Given the description of an element on the screen output the (x, y) to click on. 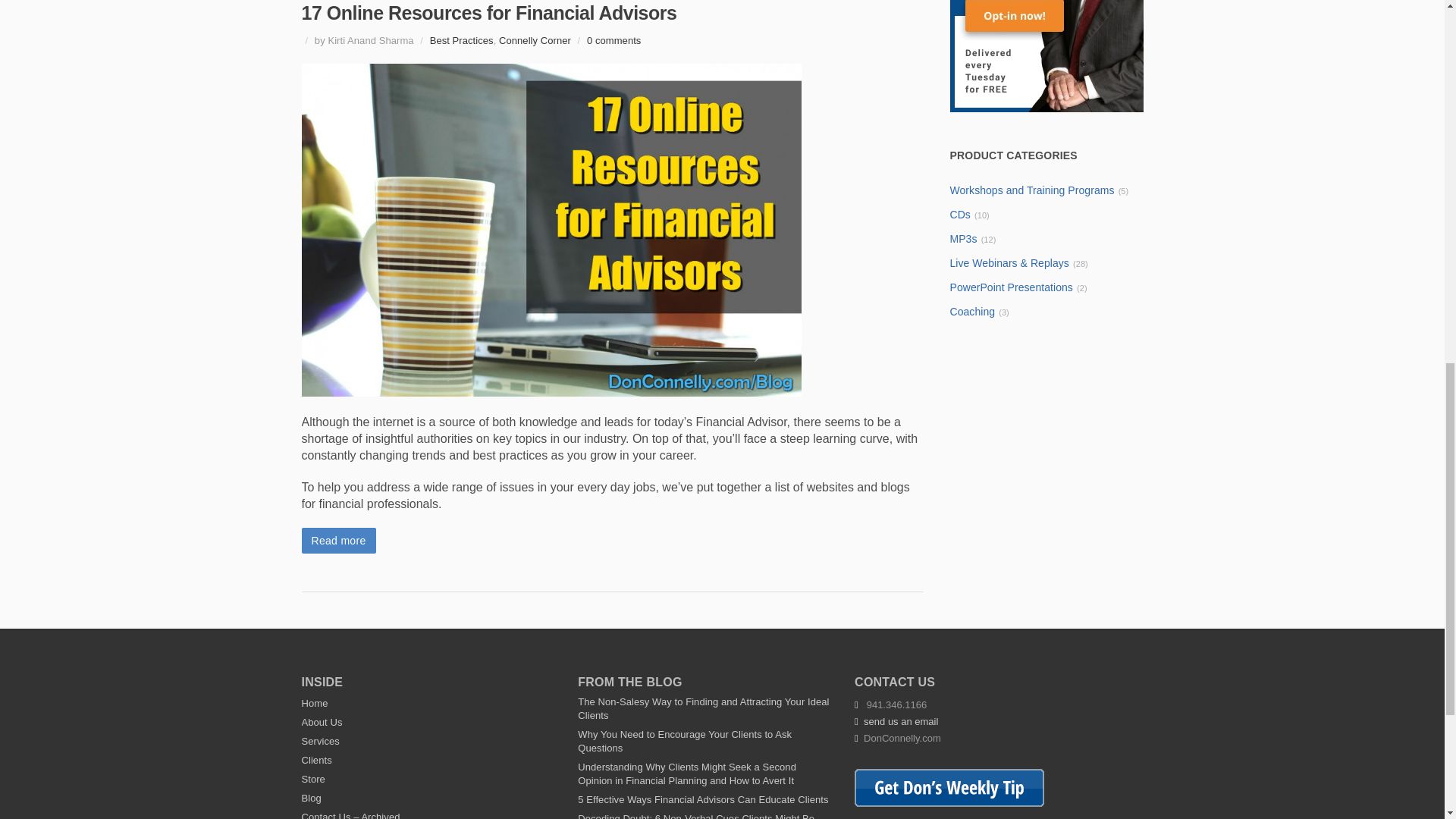
Workshops and Training Programs (1032, 190)
Blog (311, 797)
17 Online Resources for Financial Advisors (489, 12)
Clients (316, 759)
17 Online Resources for Financial Advisors (489, 12)
Services (320, 740)
0 comments (613, 40)
Connelly Corner (534, 40)
Best Practices (461, 40)
About Us (321, 722)
Read more (338, 540)
PowerPoint Presentations (1011, 287)
Coaching (972, 311)
Store (312, 778)
CDs (960, 214)
